Given the description of an element on the screen output the (x, y) to click on. 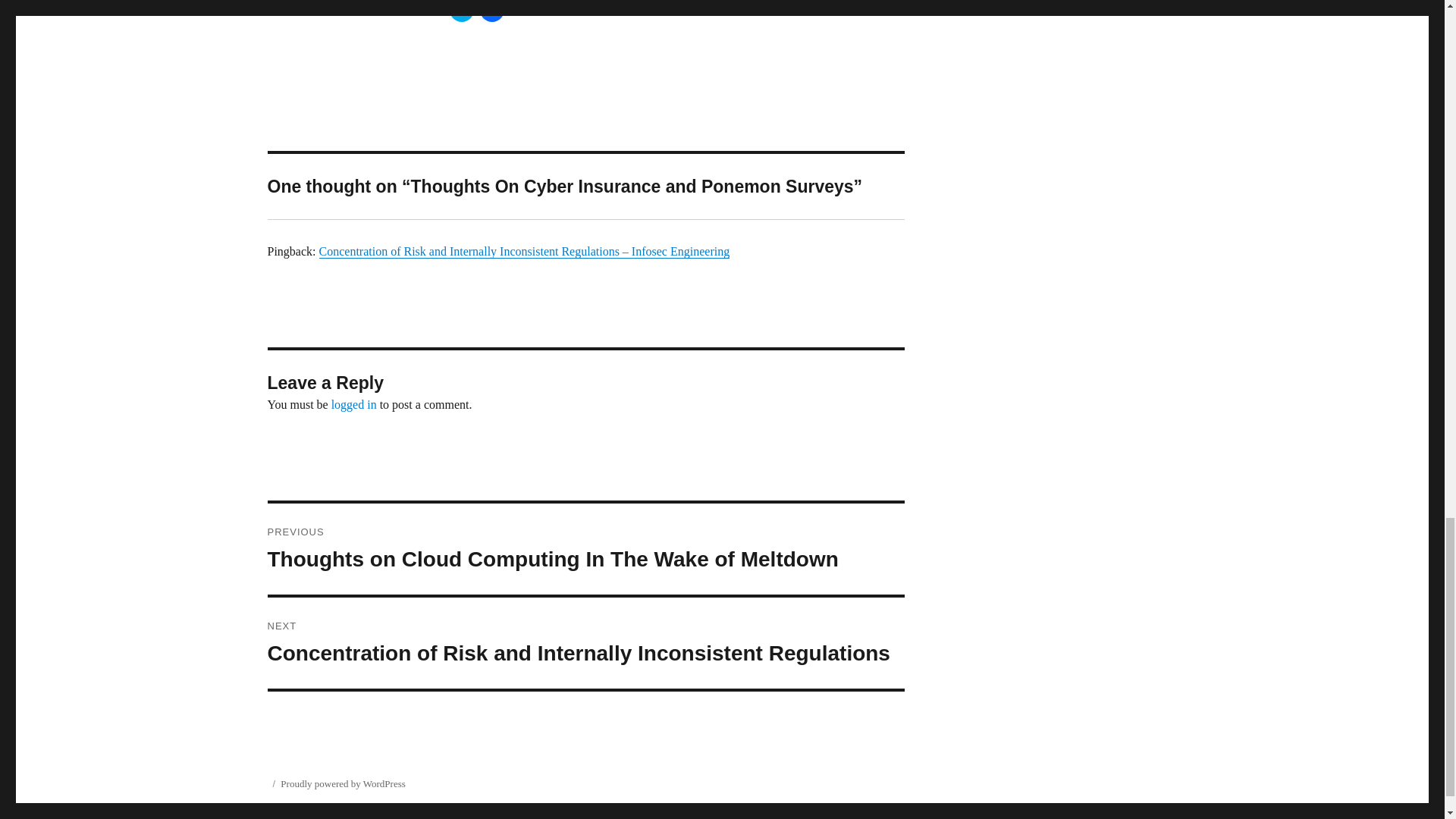
Click to share on Facebook (491, 11)
logged in (354, 404)
Click to share on Twitter (460, 11)
